Given the description of an element on the screen output the (x, y) to click on. 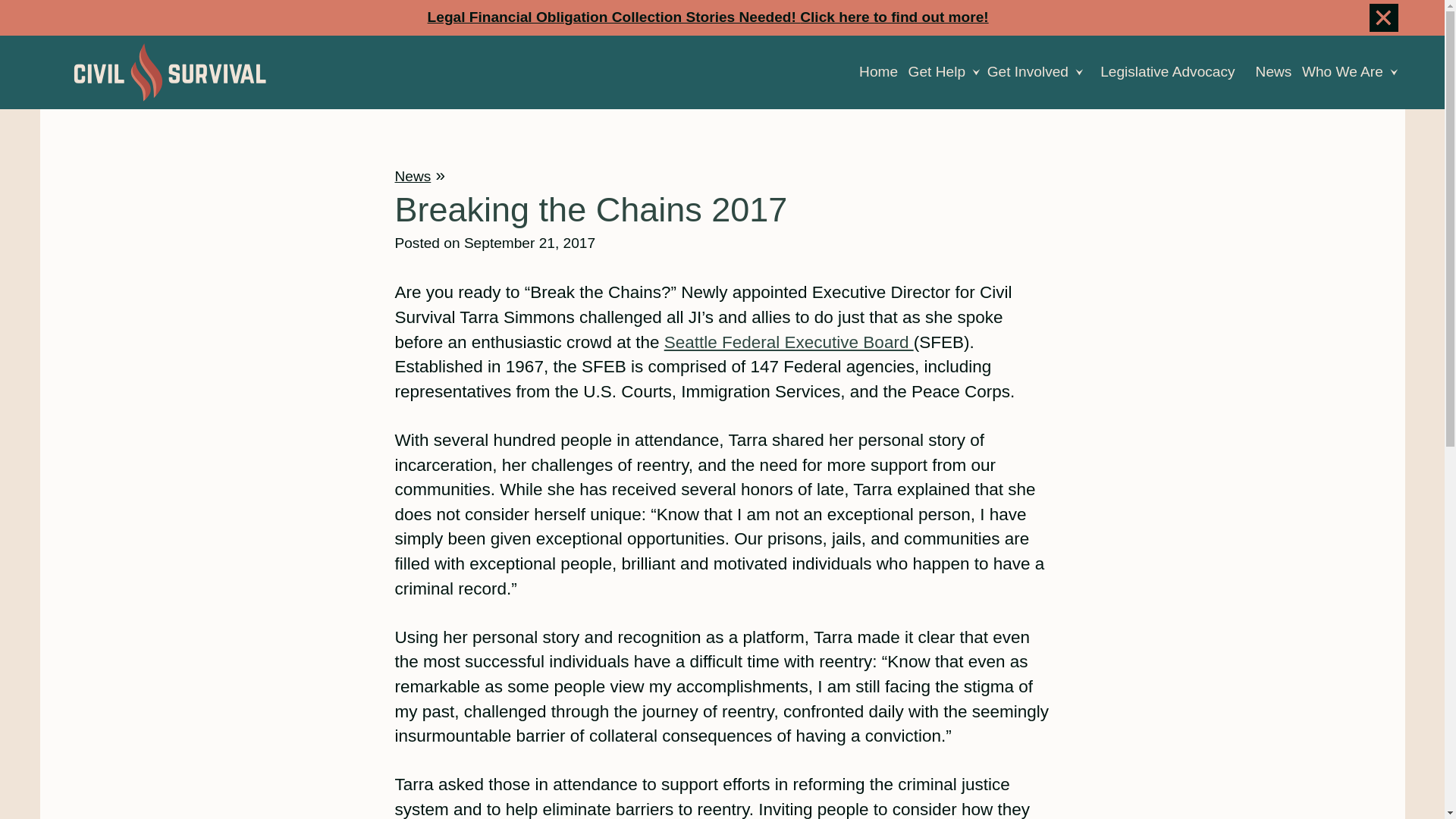
Get Help (947, 72)
Legal Financial Obligation Collection Stories Needed! (614, 17)
Click here to find out more! (893, 17)
Close Banner Message (1383, 17)
Legislative Advocacy (1167, 72)
Seattle Federal Executive Board (788, 342)
Civil Survival (168, 72)
Get Involved (1038, 72)
News (412, 176)
Who We Are (1353, 72)
